Given the description of an element on the screen output the (x, y) to click on. 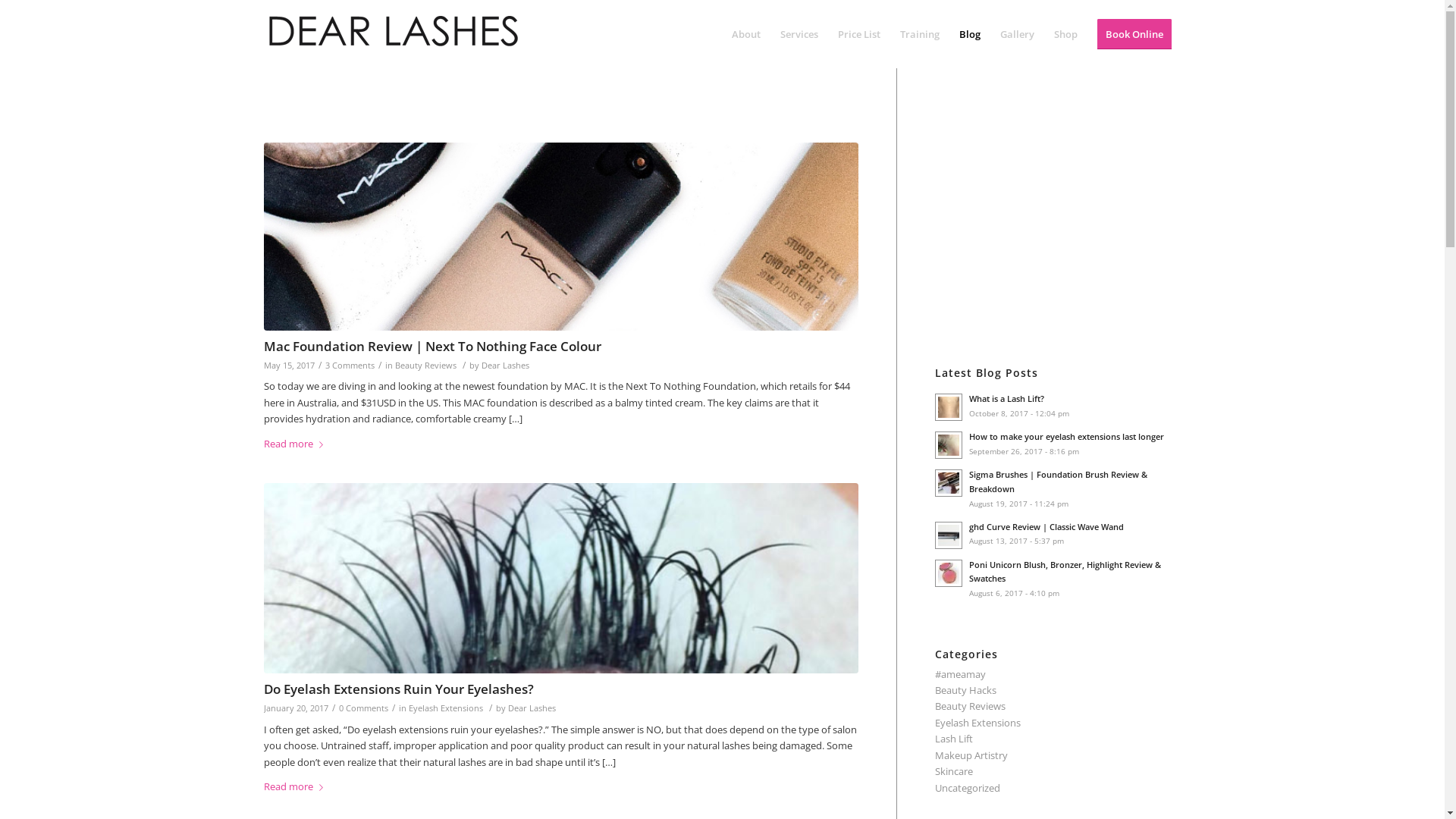
0 Comments Element type: text (362, 707)
Do Eyelash Extensions Ruin Your Eyelashes? Element type: hover (561, 578)
Price List Element type: text (859, 34)
Makeup Artistry Element type: text (971, 755)
Lash Lift Element type: text (953, 738)
Skincare Element type: text (953, 771)
About Element type: text (745, 34)
Blog Element type: text (969, 34)
Dear Lashes Element type: text (531, 707)
Book Online Element type: text (1134, 34)
Beauty Hacks Element type: text (965, 689)
Gallery Element type: text (1017, 34)
Mac Foundation Review | Next To Nothing Face Colour Element type: hover (561, 236)
Mac Foundation Review | Next To Nothing Face Colour Element type: text (432, 345)
Advertisement Element type: hover (1062, 210)
Beauty Reviews Element type: text (970, 705)
Eyelash Extensions Element type: text (977, 722)
Shop Element type: text (1064, 34)
Do Eyelash Extensions Ruin Your Eyelashes? Element type: text (398, 688)
Read more Element type: text (296, 786)
Read more Element type: text (296, 444)
Eyelash Extensions Element type: text (444, 707)
Training Element type: text (919, 34)
Services Element type: text (799, 34)
Dear Lashes Element type: text (504, 365)
3 Comments Element type: text (348, 365)
Uncategorized Element type: text (967, 787)
#ameamay Element type: text (960, 673)
Beauty Reviews Element type: text (424, 365)
What is a Lash Lift?
October 8, 2017 - 12:04 pm Element type: text (1057, 405)
